Given the description of an element on the screen output the (x, y) to click on. 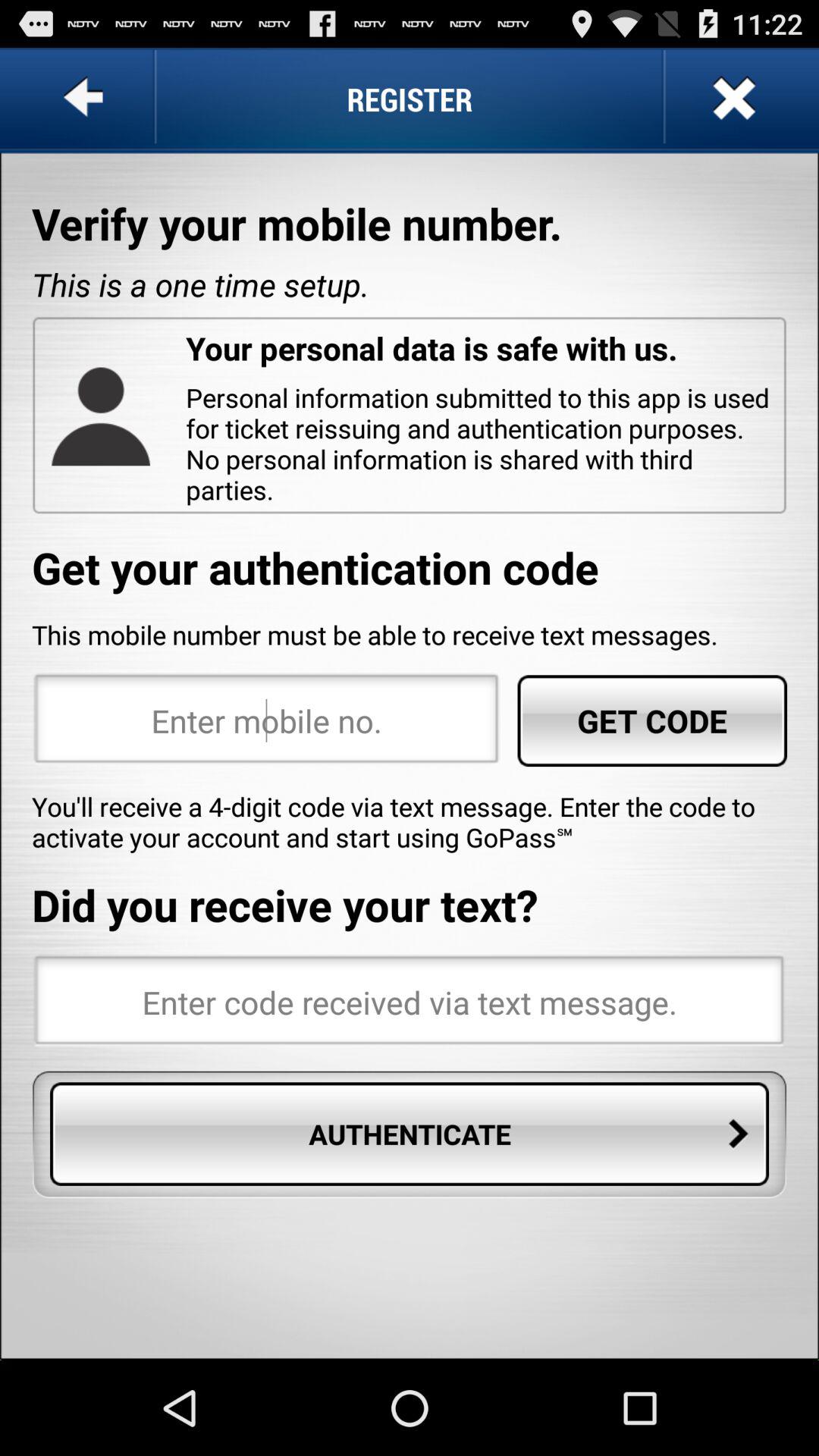
flip to the authenticate button (409, 1133)
